Given the description of an element on the screen output the (x, y) to click on. 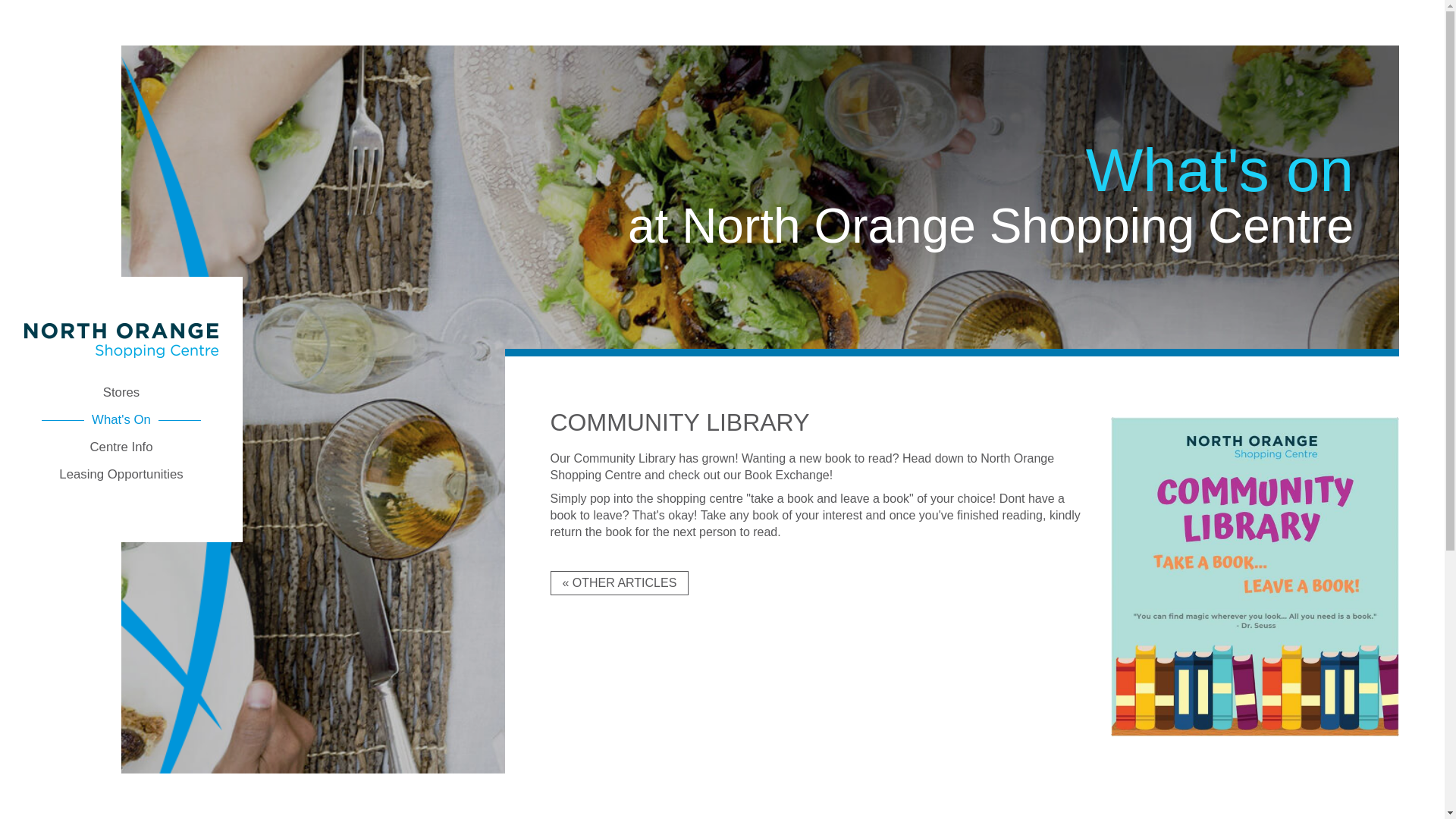
What's On Element type: text (121, 419)
Stores Element type: text (121, 392)
Centre Info Element type: text (121, 447)
Leasing Opportunities Element type: text (121, 474)
